Given the description of an element on the screen output the (x, y) to click on. 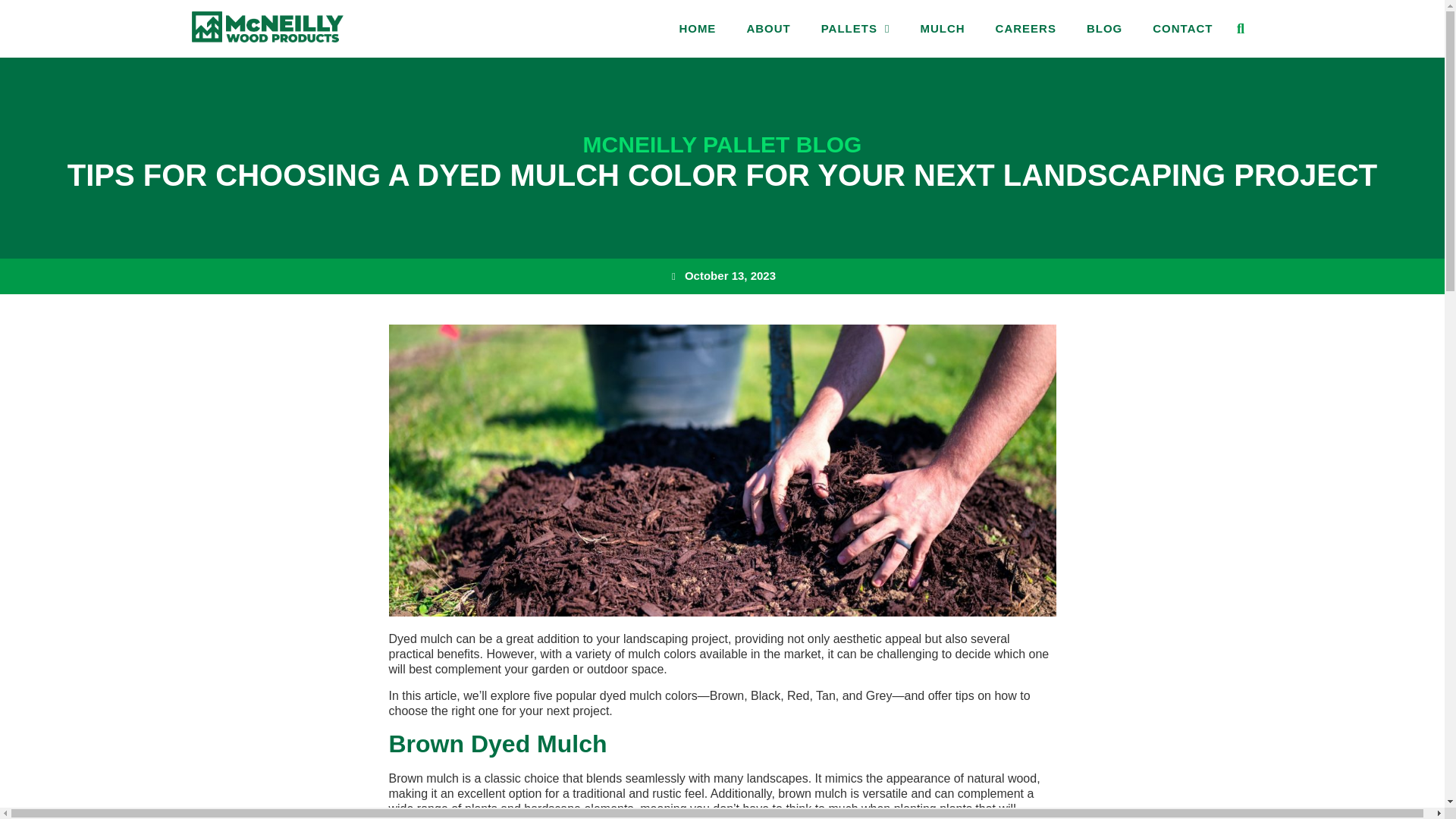
MULCH (941, 28)
PALLETS (855, 28)
CONTACT (1182, 28)
HOME (696, 28)
BLOG (1104, 28)
ABOUT (767, 28)
CAREERS (1025, 28)
